Given the description of an element on the screen output the (x, y) to click on. 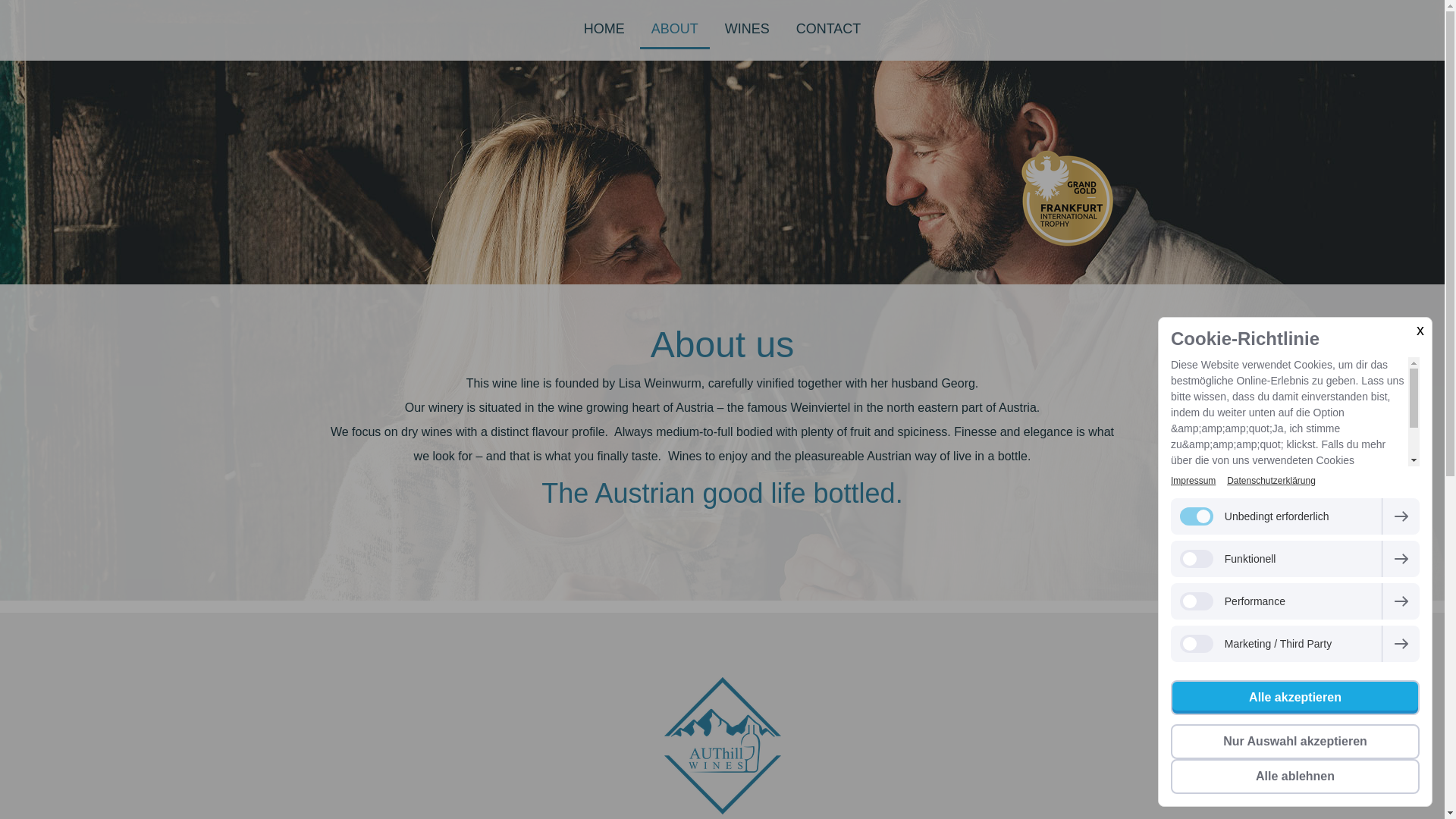
HOME (604, 30)
ABOUT (675, 30)
CONTACT (828, 30)
WINES (746, 30)
